Given the description of an element on the screen output the (x, y) to click on. 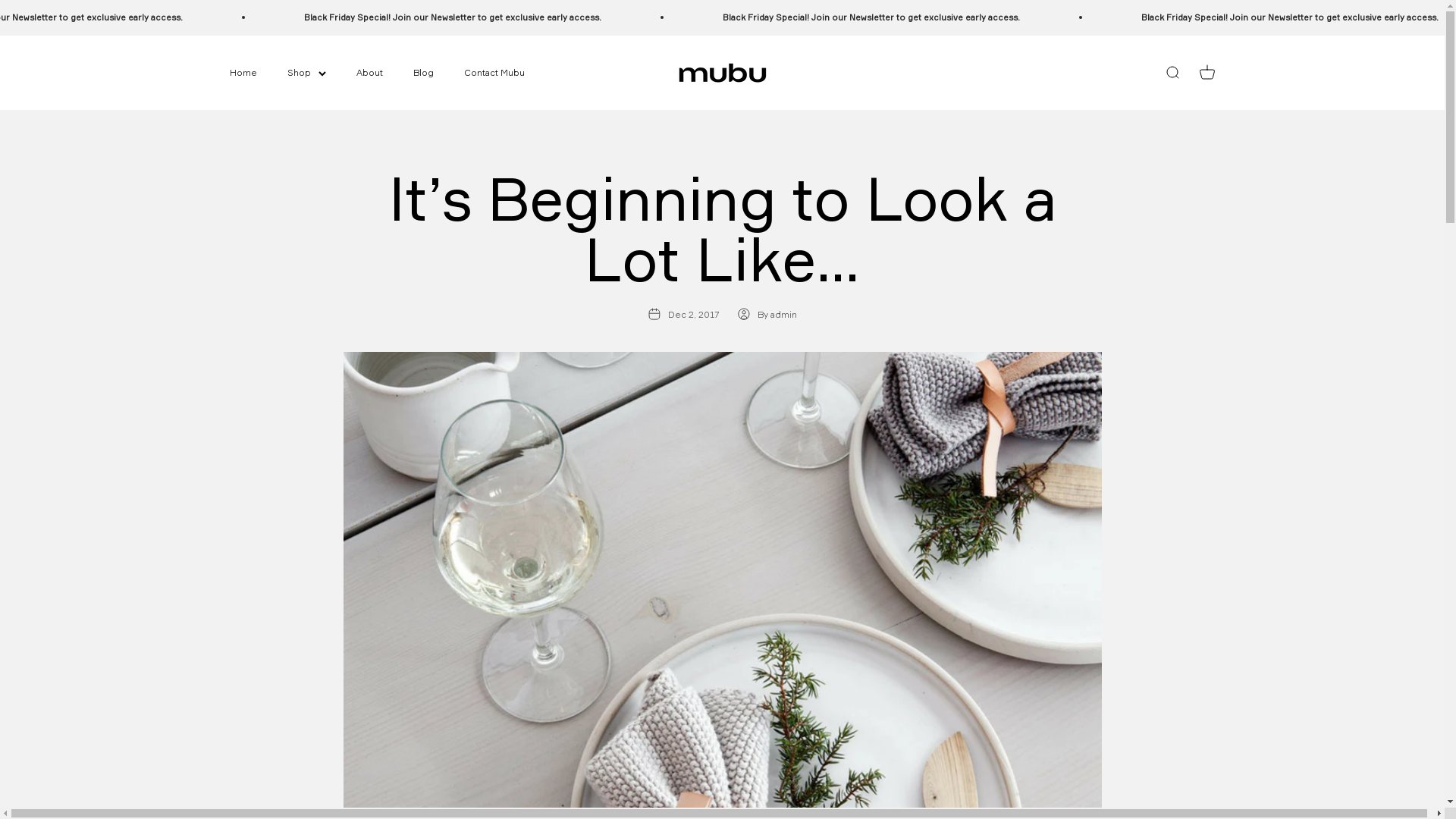
About Element type: text (369, 72)
Mubu Home: Modern Timber Beds and Furniture Element type: text (721, 72)
Blog Element type: text (422, 72)
Open search Element type: text (1171, 72)
Home Element type: text (242, 72)
Open cart Element type: text (1206, 72)
Contact Mubu Element type: text (494, 72)
